Given the description of an element on the screen output the (x, y) to click on. 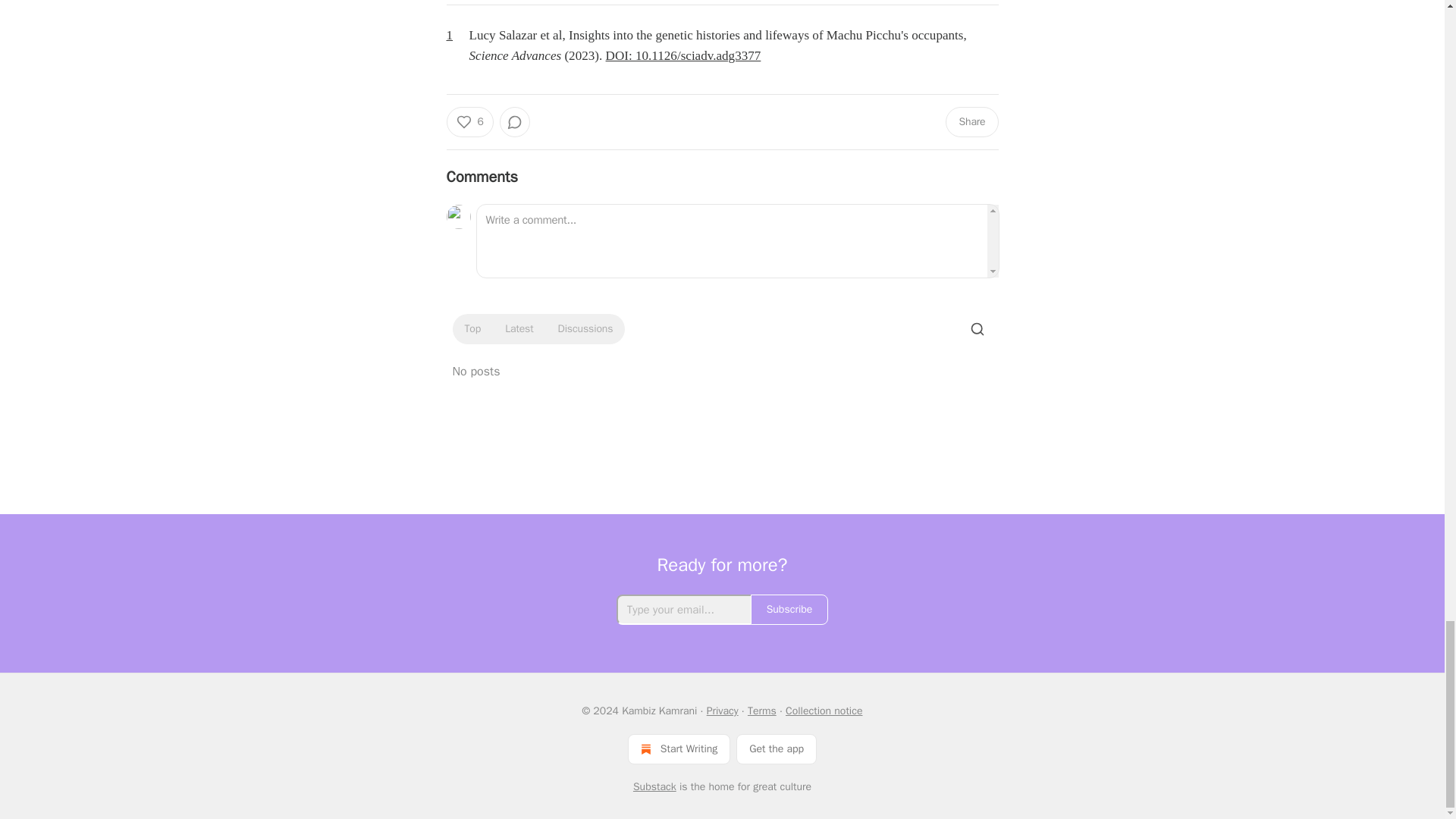
Top (471, 328)
1 (454, 35)
Subscribe (789, 609)
Share (970, 122)
Discussions (585, 328)
Latest (518, 328)
6 (469, 122)
